Given the description of an element on the screen output the (x, y) to click on. 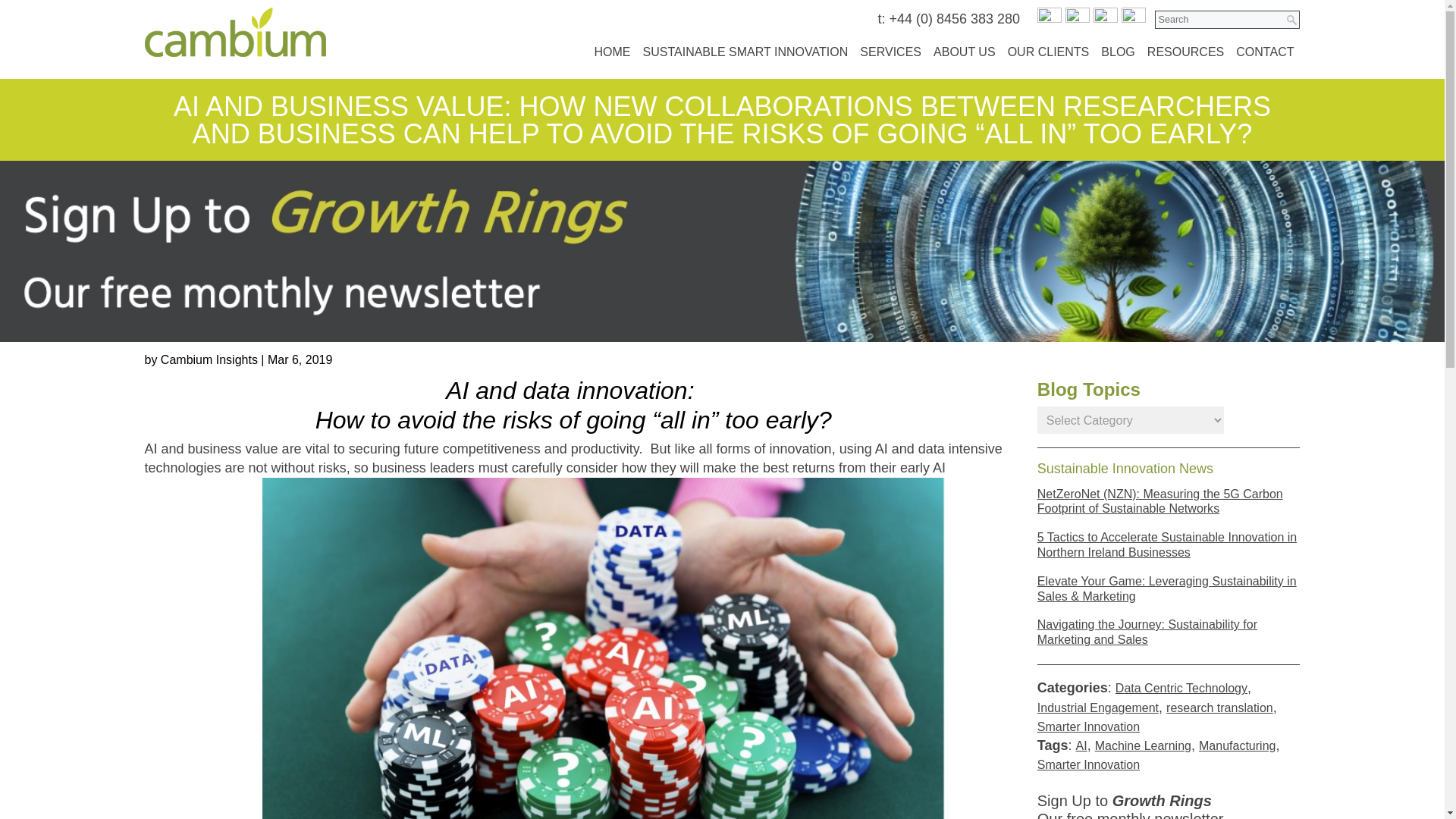
ABOUT US (964, 51)
research translation (1219, 711)
CONTACT (1265, 51)
Manufacturing (1237, 749)
Posts by Cambium Insights (208, 362)
SERVICES (890, 51)
BLOG (1117, 51)
Smarter Innovation (1088, 767)
Smarter Innovation (1088, 730)
